Given the description of an element on the screen output the (x, y) to click on. 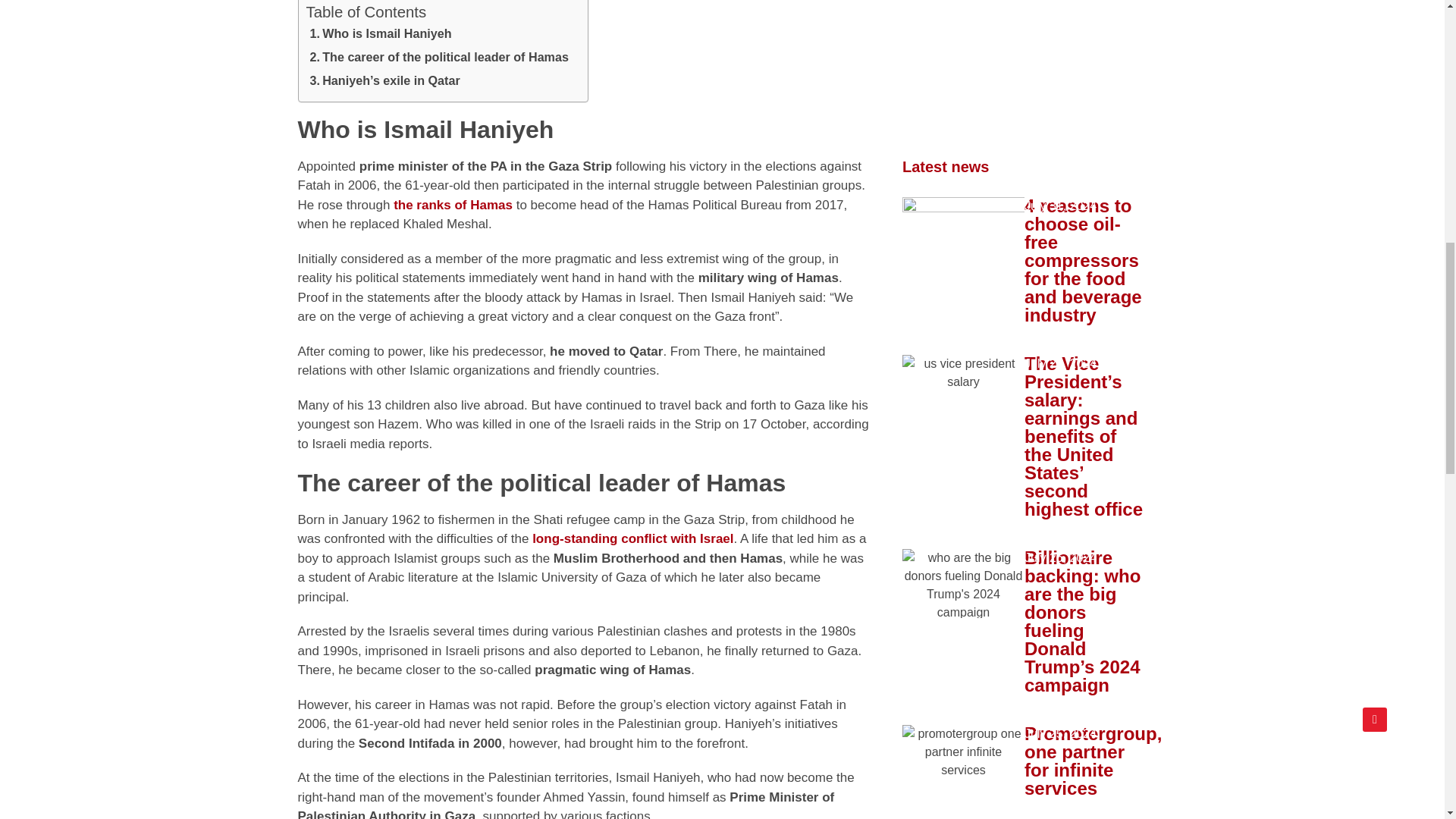
The career of the political leader of Hamas (438, 59)
Who is Ismail Haniyeh (380, 35)
The career of the political leader of Hamas (438, 59)
long-standing conflict with Israel (632, 538)
the ranks of Hamas (452, 205)
Who is Ismail Haniyeh (380, 35)
